Given the description of an element on the screen output the (x, y) to click on. 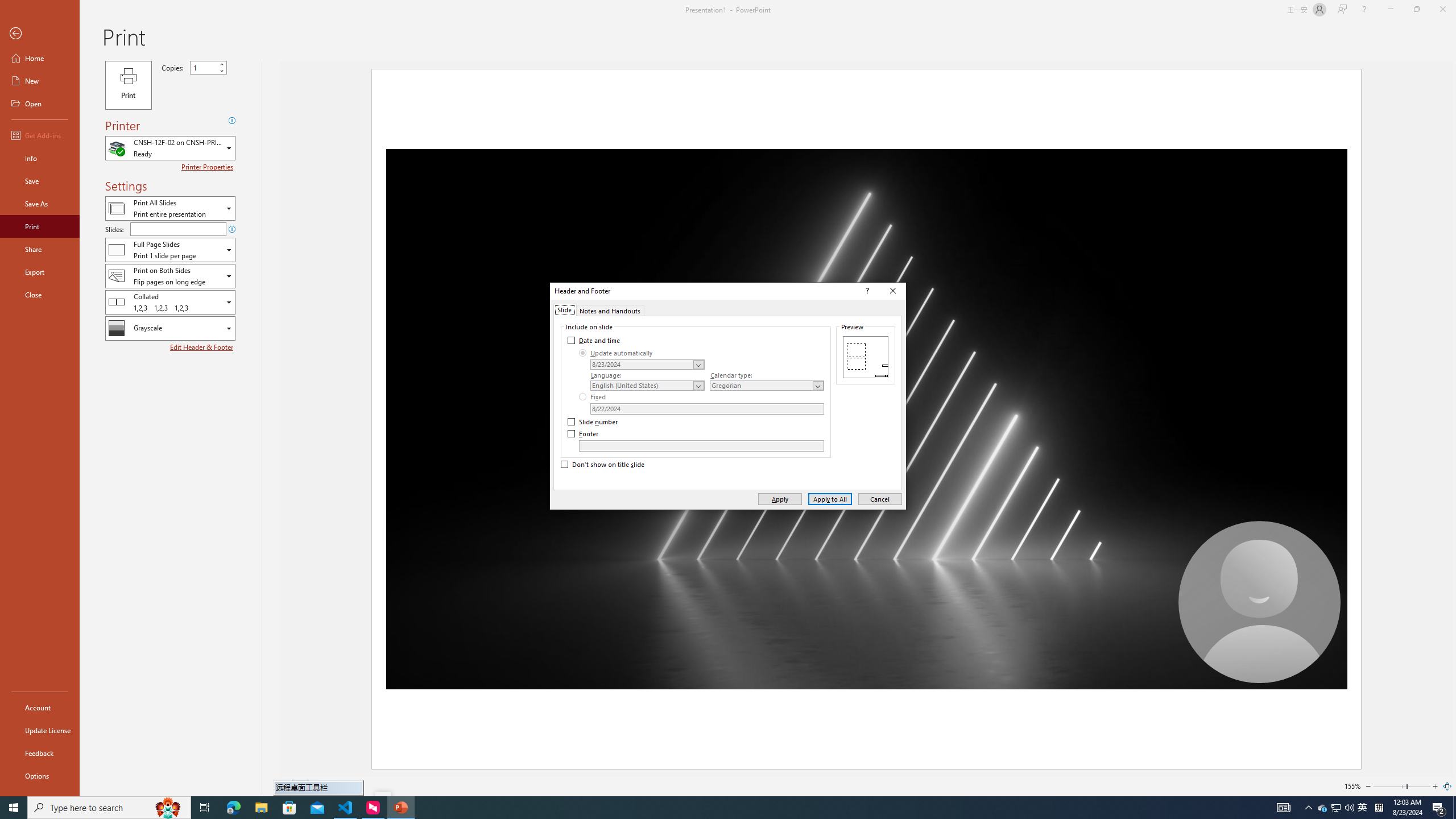
Two-Sided Printing (169, 275)
Account (40, 707)
Color/Grayscale (169, 328)
Apply (779, 498)
Notes and Handouts (610, 309)
Cancel (879, 498)
Collation (169, 301)
